Given the description of an element on the screen output the (x, y) to click on. 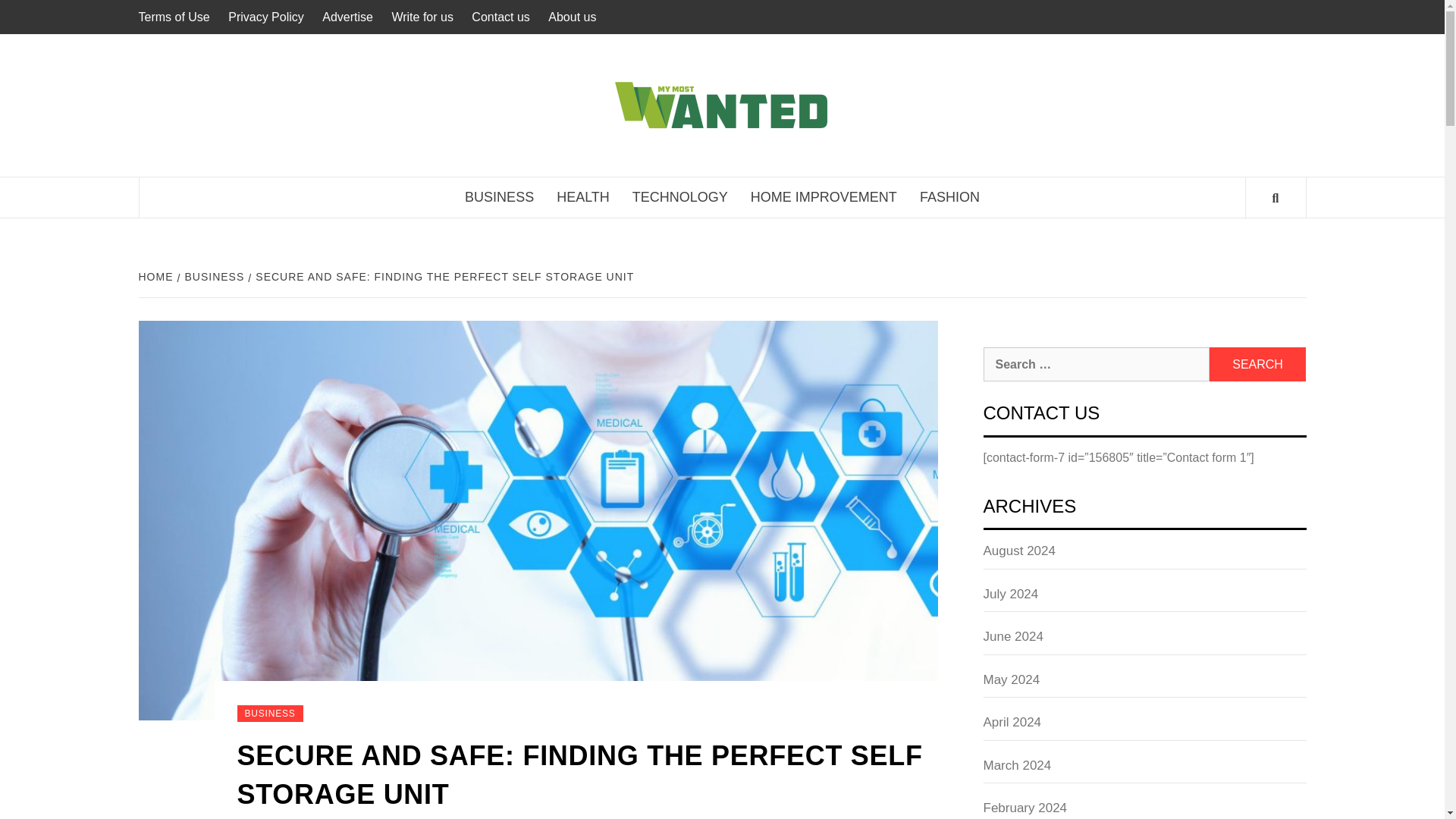
HOME IMPROVEMENT (823, 197)
TECHNOLOGY (680, 197)
BUSINESS (212, 276)
HOME (157, 276)
May 2024 (1144, 684)
July 2024 (1144, 598)
Write for us (422, 17)
August 2024 (1144, 555)
Contact us (500, 17)
Terms of Use (177, 17)
Advertise (347, 17)
MY MOST WANTED (1006, 95)
Privacy Policy (266, 17)
SECURE AND SAFE: FINDING THE PERFECT SELF STORAGE UNIT (442, 276)
BUSINESS (268, 713)
